Given the description of an element on the screen output the (x, y) to click on. 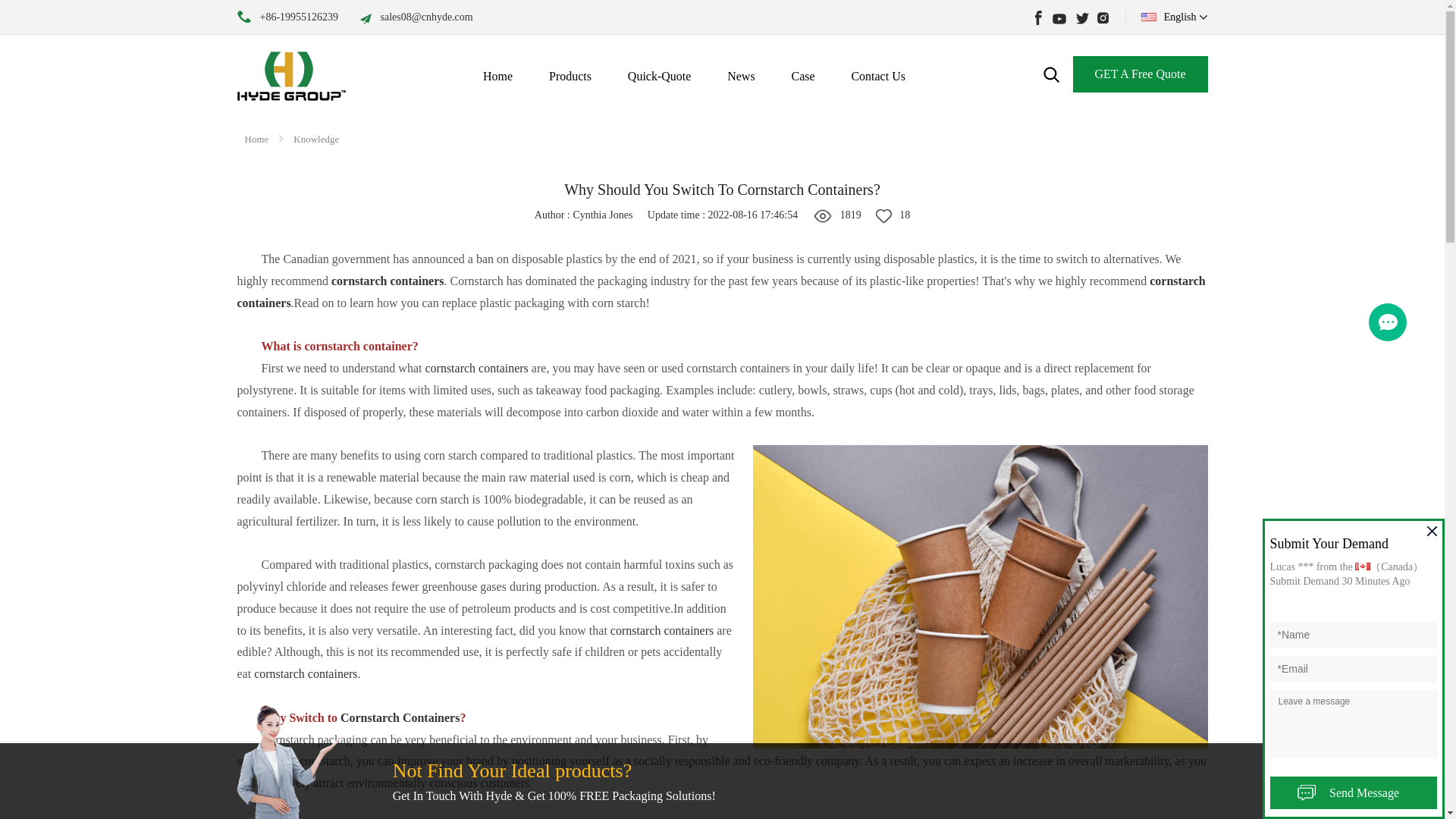
Twitter (1081, 17)
YouTube (1059, 17)
Send Message (1352, 792)
Facebook (1036, 17)
Instagram (1104, 17)
